Given the description of an element on the screen output the (x, y) to click on. 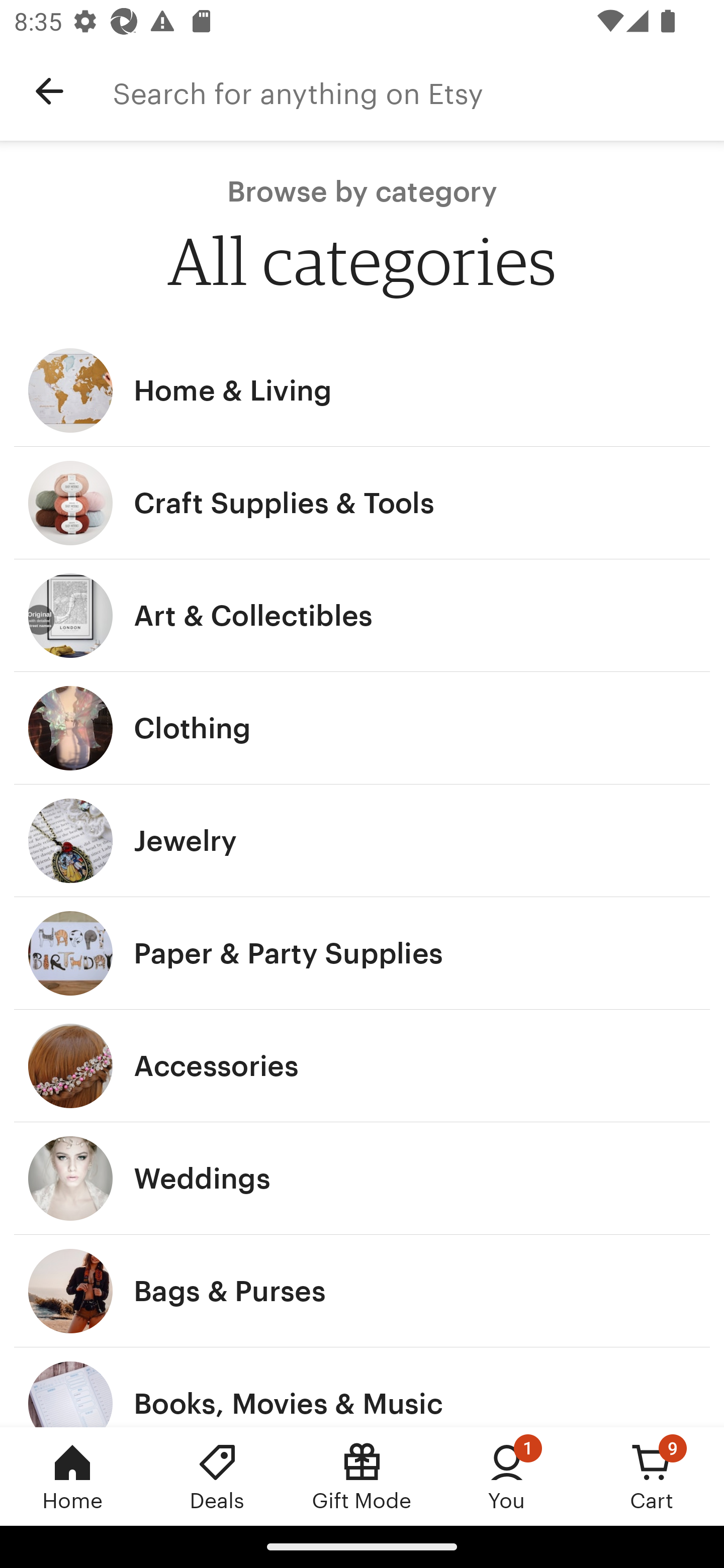
Navigate up (49, 91)
Search for anything on Etsy (418, 91)
Home & Living (361, 389)
Craft Supplies & Tools (361, 502)
Art & Collectibles (361, 615)
Clothing (361, 728)
Jewelry (361, 840)
Paper & Party Supplies (361, 952)
Accessories (361, 1065)
Weddings (361, 1178)
Bags & Purses (361, 1290)
Books, Movies & Music (361, 1386)
Deals (216, 1475)
Gift Mode (361, 1475)
You, 1 new notification You (506, 1475)
Cart, 9 new notifications Cart (651, 1475)
